Given the description of an element on the screen output the (x, y) to click on. 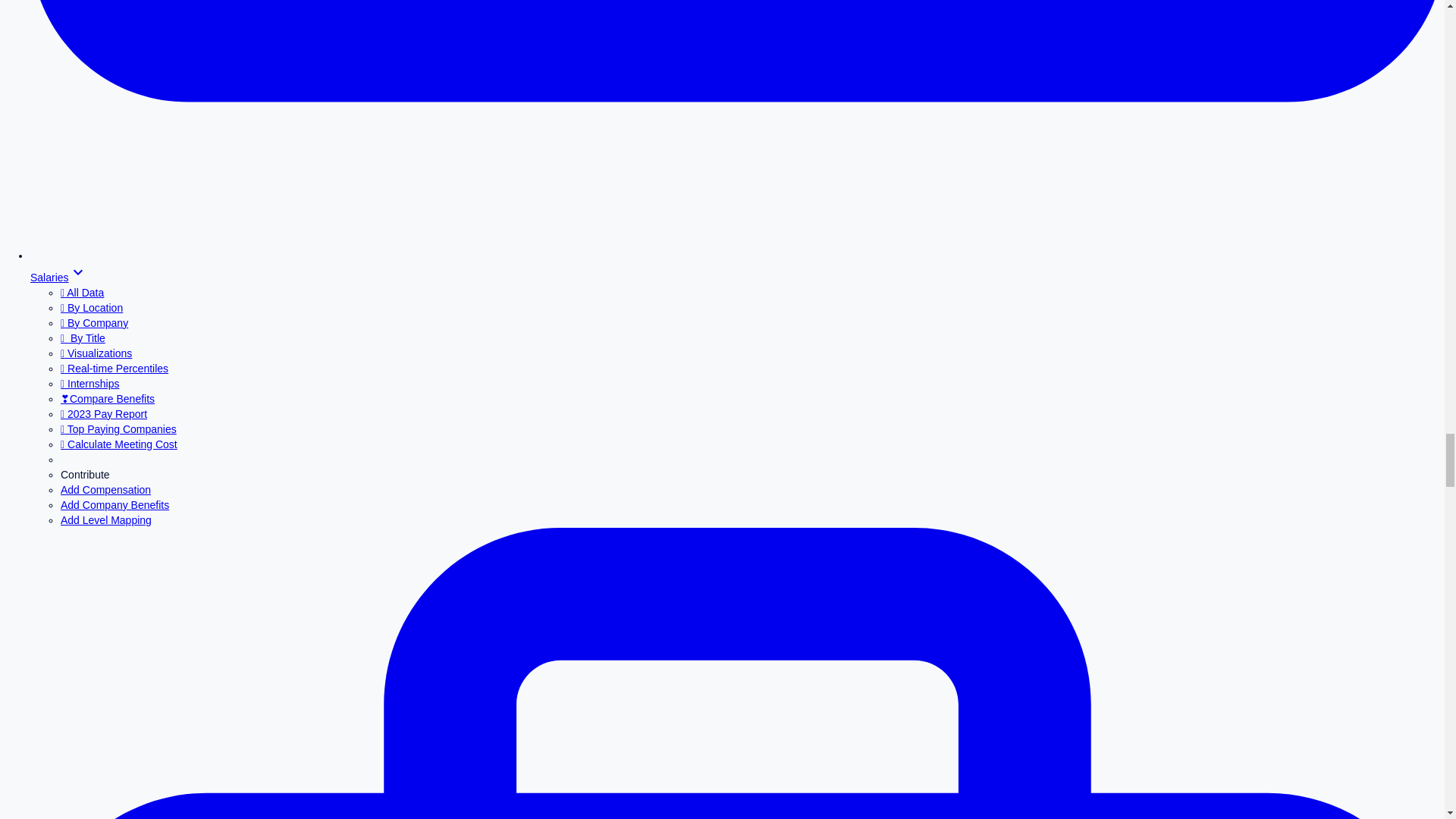
Add Company Benefits (114, 504)
Add Compensation (106, 490)
